Given the description of an element on the screen output the (x, y) to click on. 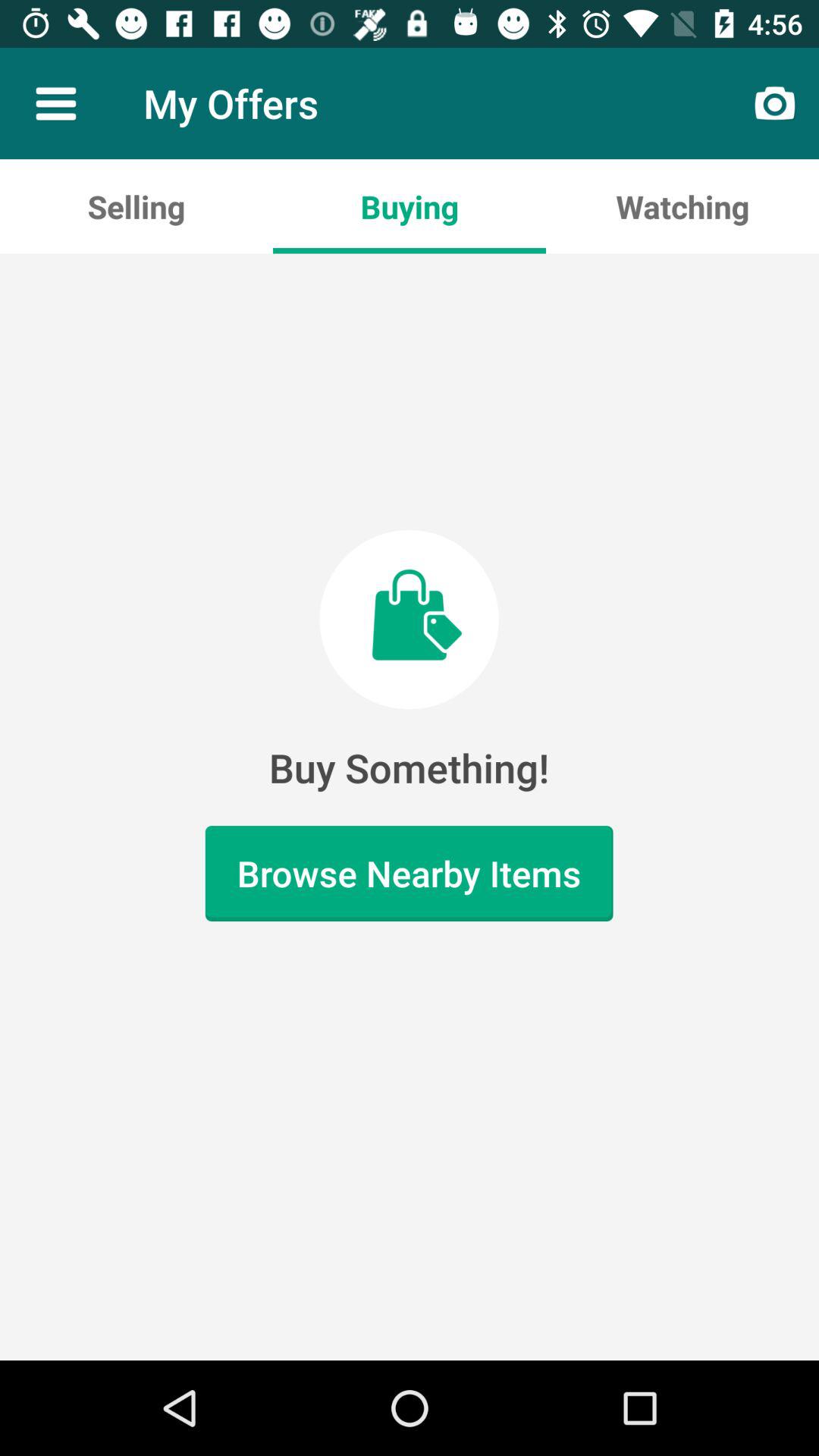
click icon above the selling (55, 103)
